Given the description of an element on the screen output the (x, y) to click on. 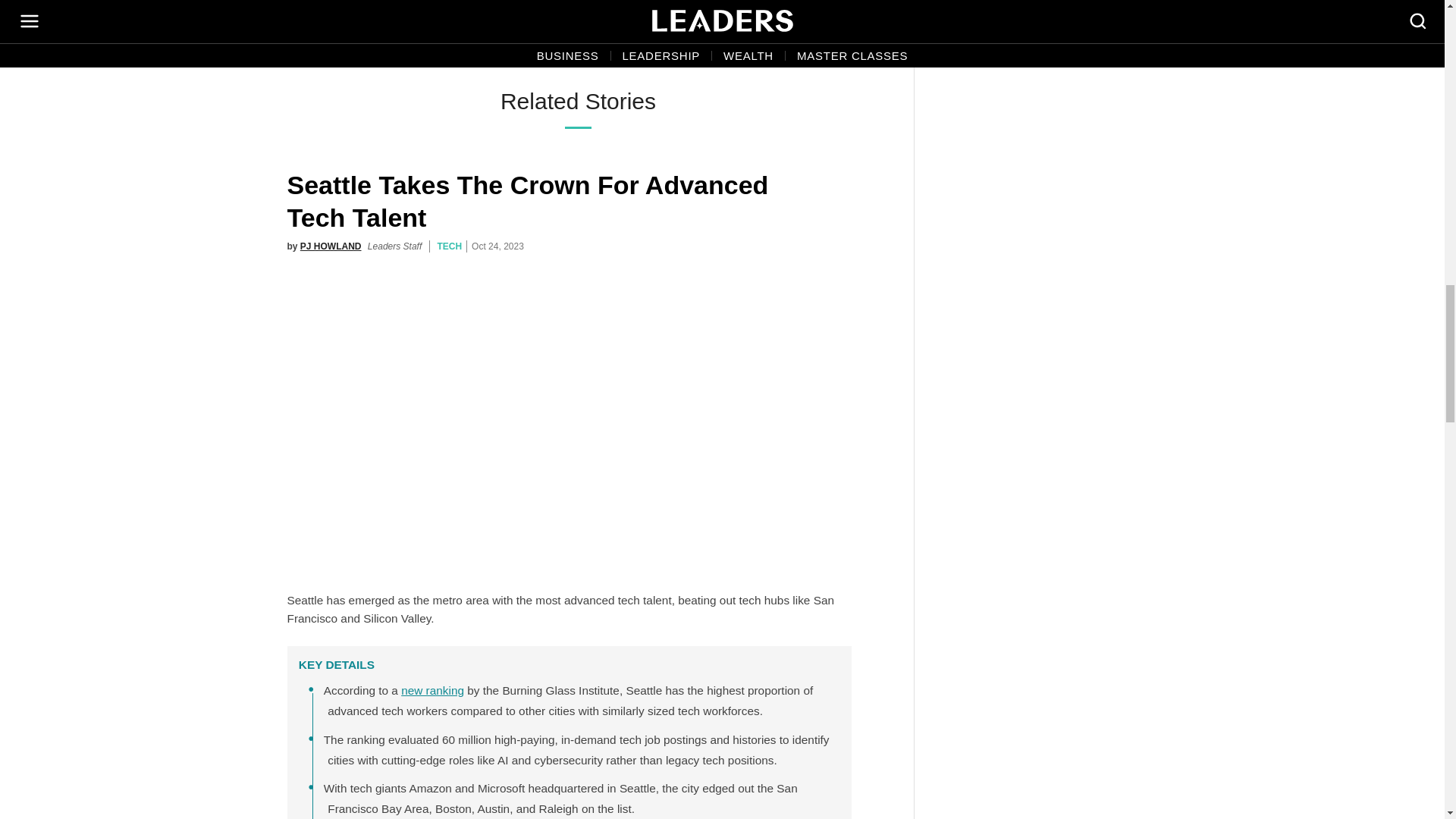
Share on Facebook (561, 42)
Share on Twitter (587, 42)
Share on LinkedIn (639, 42)
Share via Email (612, 42)
